Given the description of an element on the screen output the (x, y) to click on. 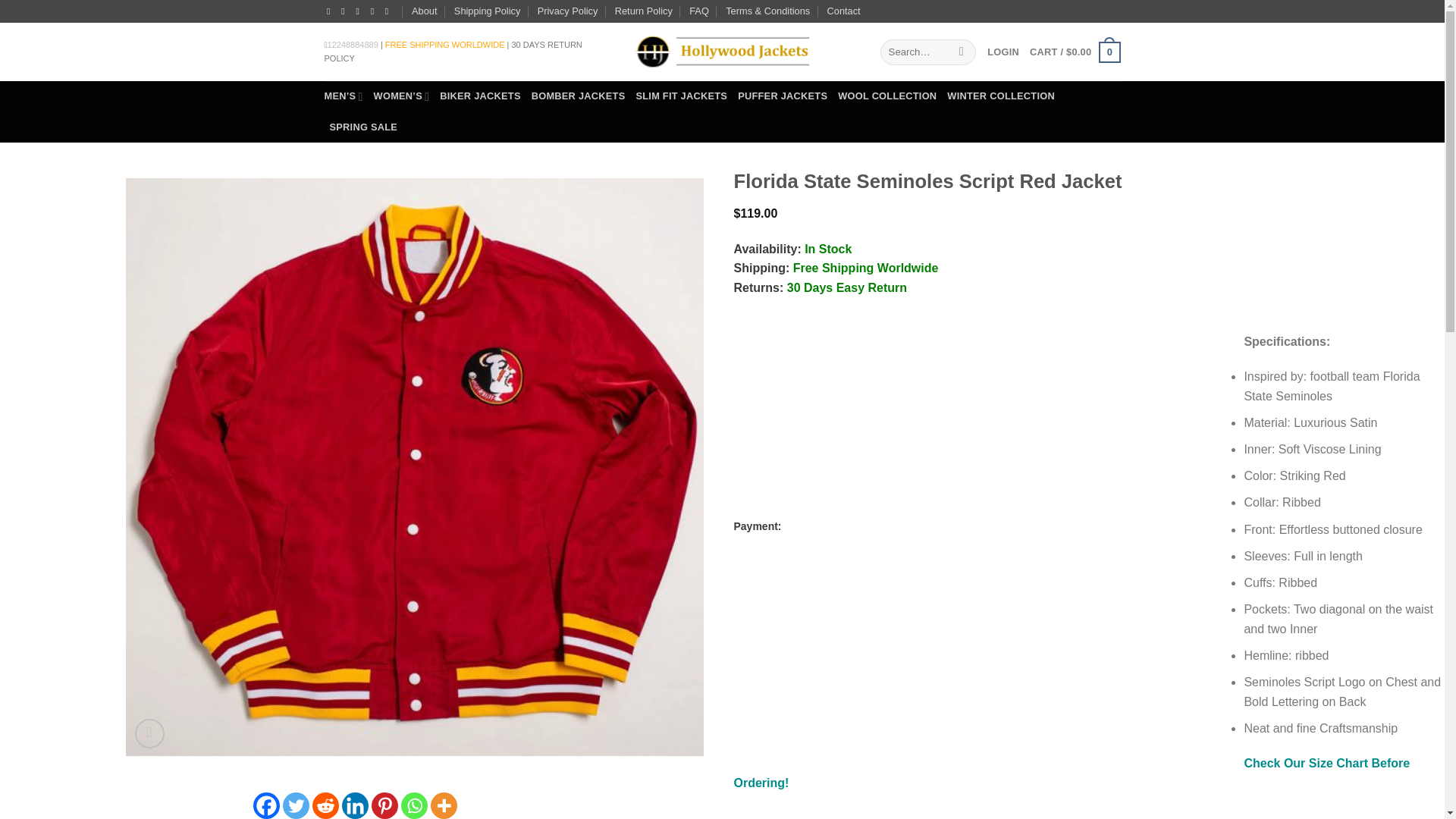
Zoom (149, 733)
Facebook (266, 805)
Search (961, 52)
Contact (843, 11)
Twitter (295, 805)
Return Policy (643, 11)
Shipping Policy (487, 11)
Cart (1074, 52)
LOGIN (1003, 51)
About (424, 11)
12248884889 (352, 44)
Hollywood Jackets - Hollywood Jackets (721, 52)
Privacy Policy (567, 11)
